Given the description of an element on the screen output the (x, y) to click on. 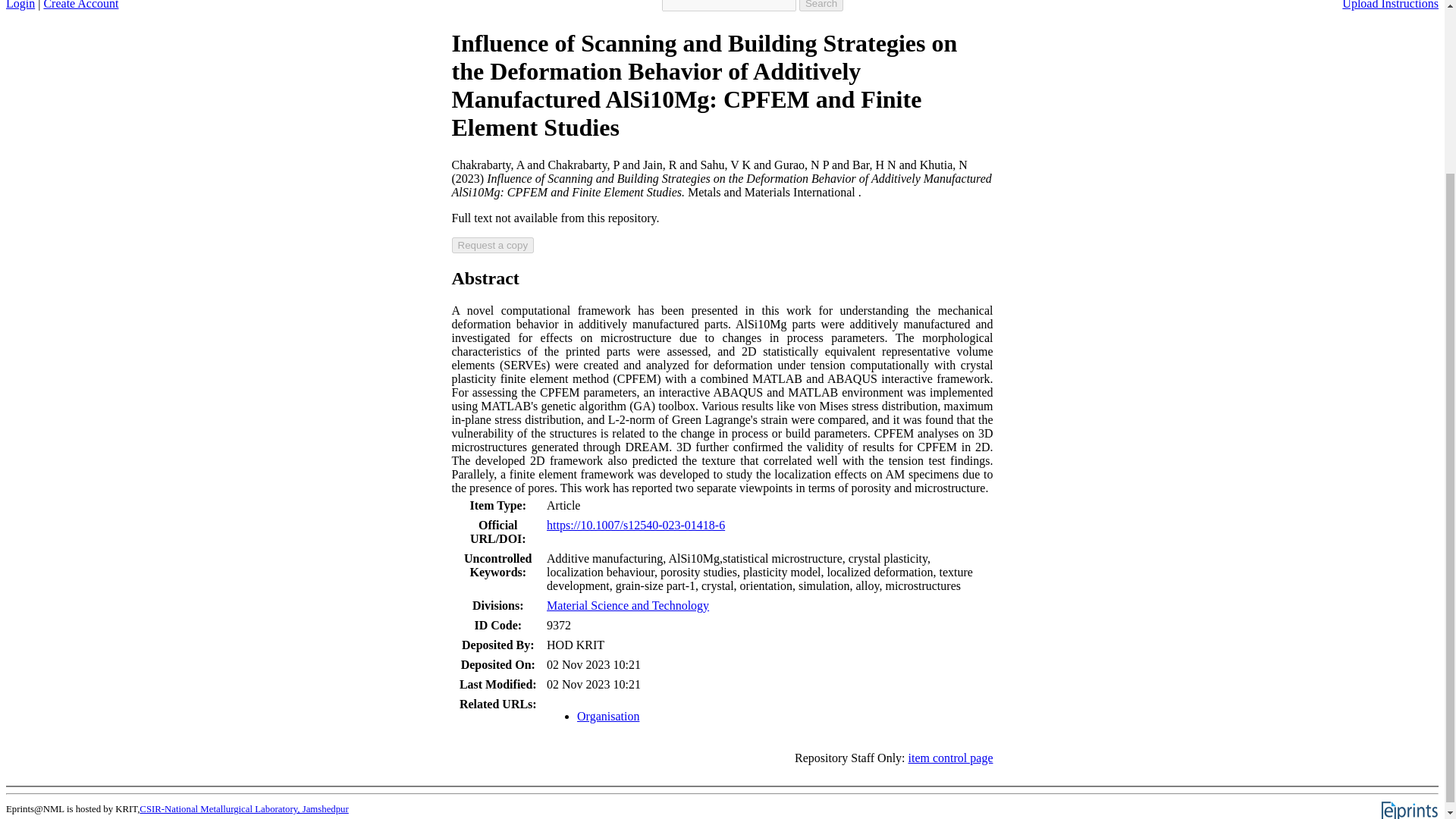
Search (821, 5)
Request a copy (492, 245)
Create Account (80, 4)
Search (821, 5)
Login (19, 4)
Organisation (607, 716)
Material Science and Technology (628, 604)
item control page (950, 757)
CSIR-National Metallurgical Laboratory, Jamshedpur (243, 808)
Search (821, 5)
Request a copy (492, 245)
